Given the description of an element on the screen output the (x, y) to click on. 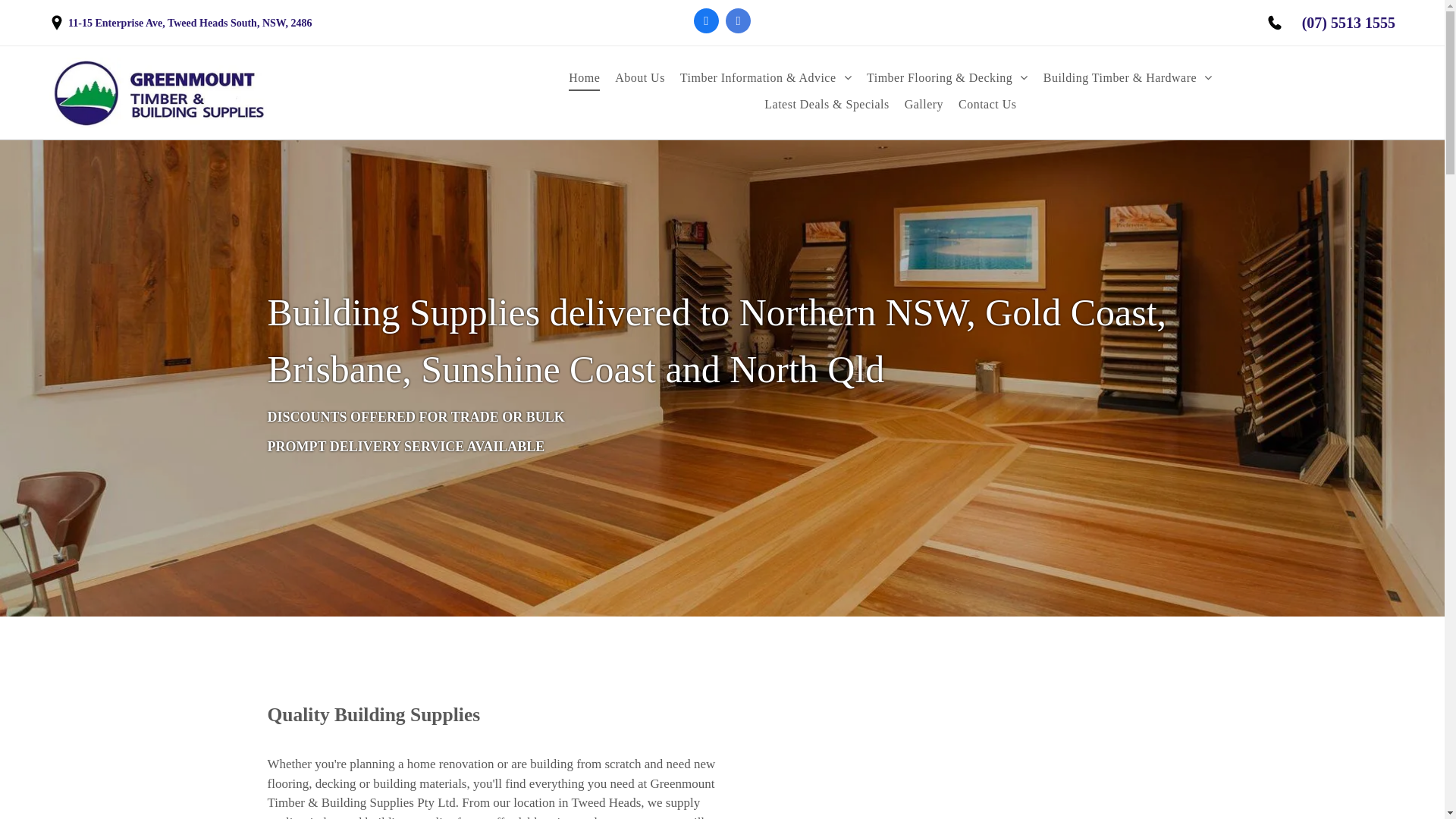
Building Timber & Hardware Element type: text (1127, 78)
Latest Deals & Specials Element type: text (826, 103)
Timber Information & Advice Element type: text (765, 78)
(07) 5513 1555 Element type: text (1348, 22)
Greenmount Timber & Building Supplies Element type: hover (161, 92)
Gallery Element type: text (923, 103)
Contact Us Element type: text (986, 103)
About Us Element type: text (639, 78)
11-15 Enterprise Ave, Tweed Heads South, NSW, 2486 Element type: text (190, 22)
Home Element type: text (584, 78)
Timber Flooring & Decking Element type: text (947, 78)
